Given the description of an element on the screen output the (x, y) to click on. 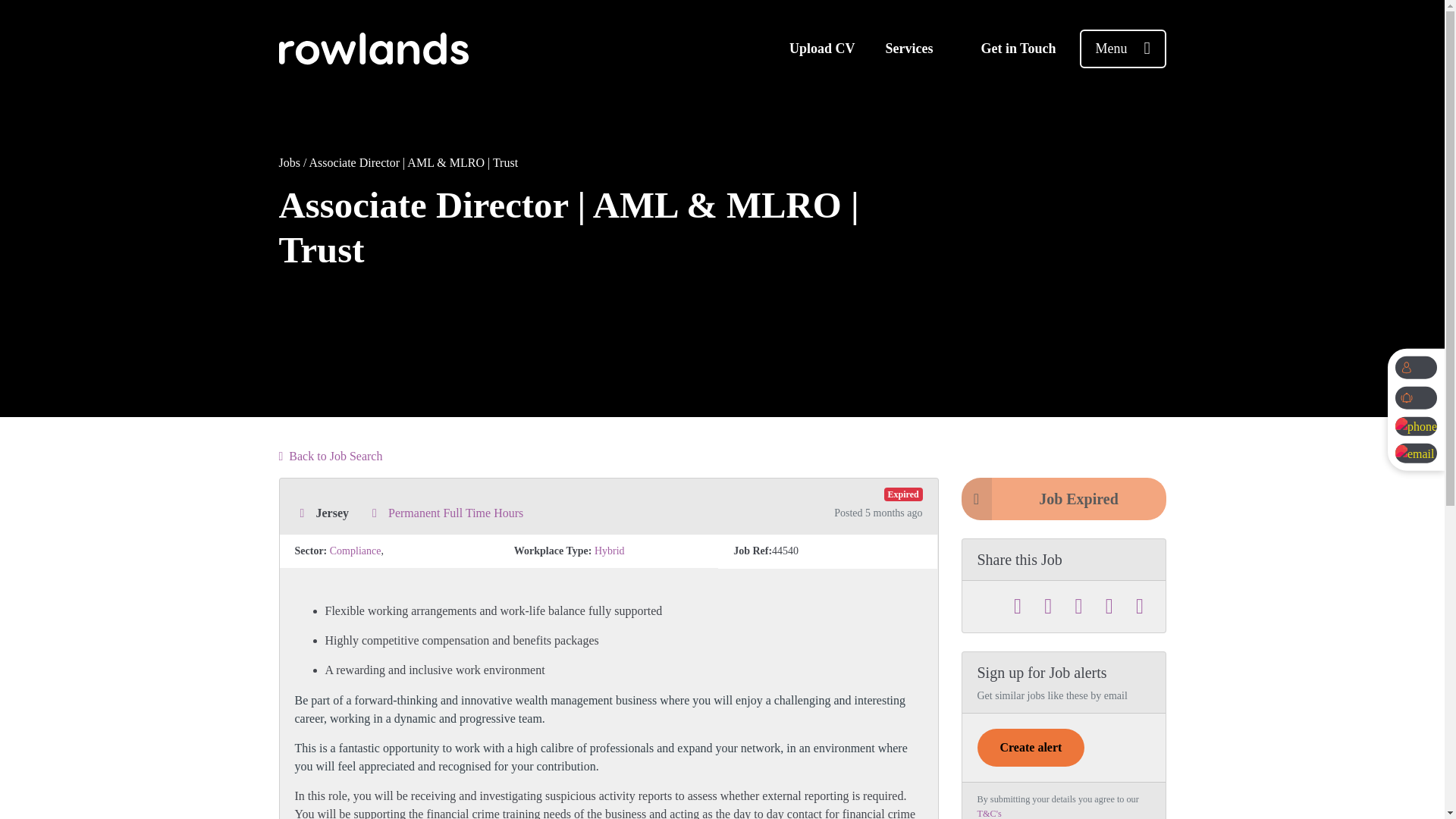
Job Type (373, 512)
Email (1139, 606)
Get in Touch (1017, 48)
Upload CV (822, 48)
WhatsApp (1109, 606)
Twitter (1017, 606)
Menu (1123, 47)
LinkedIn (1078, 606)
Services (909, 48)
Location (301, 512)
Permanent Employment (1045, 224)
Facebook (1048, 606)
